Given the description of an element on the screen output the (x, y) to click on. 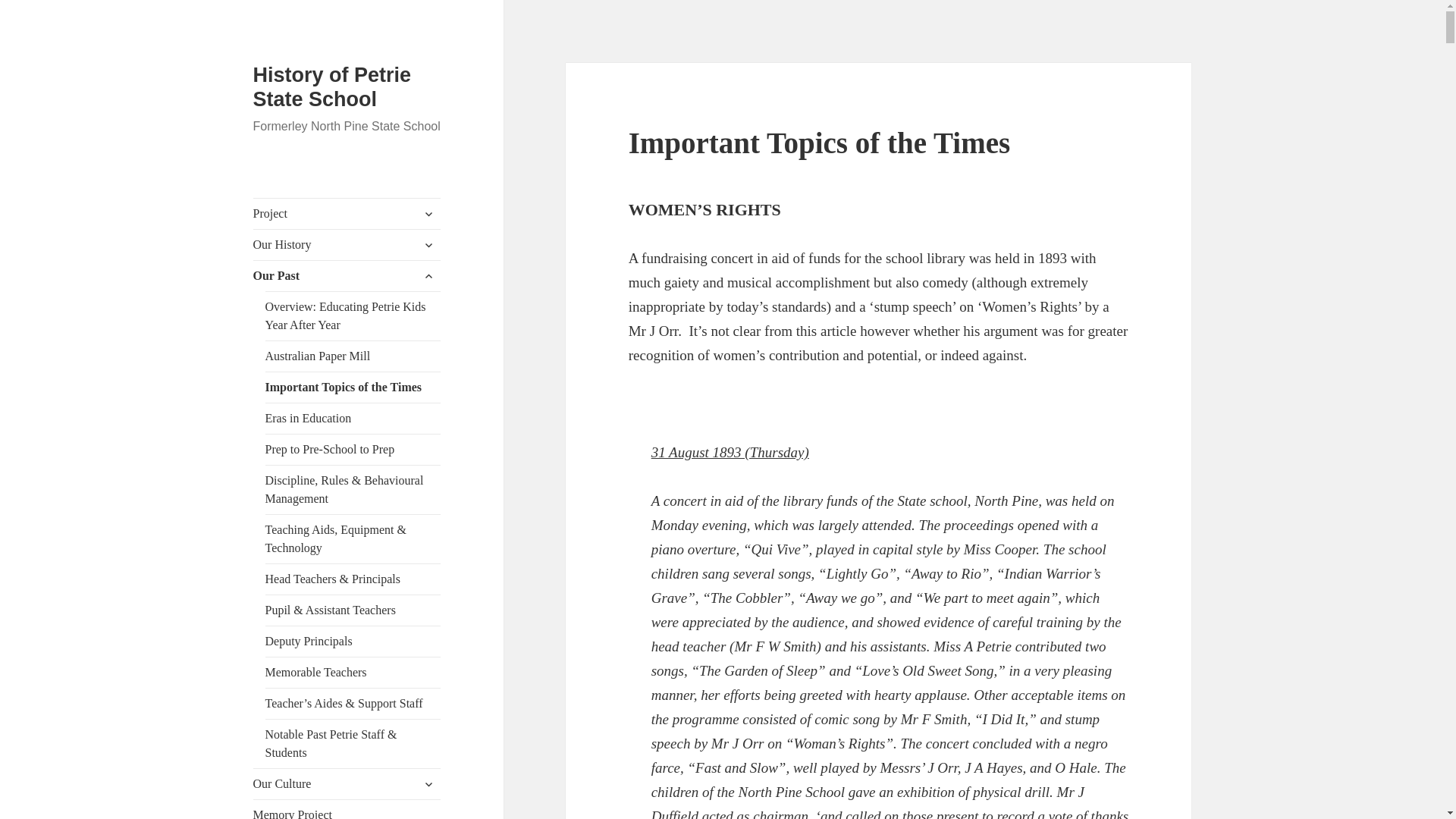
expand child menu (428, 213)
Eras in Education (352, 418)
expand child menu (428, 244)
expand child menu (428, 275)
Overview: Educating Petrie Kids Year After Year (352, 315)
History of Petrie State School (332, 86)
Project (347, 214)
Our History (347, 245)
Our Past (347, 276)
Australian Paper Mill (352, 356)
